Given the description of an element on the screen output the (x, y) to click on. 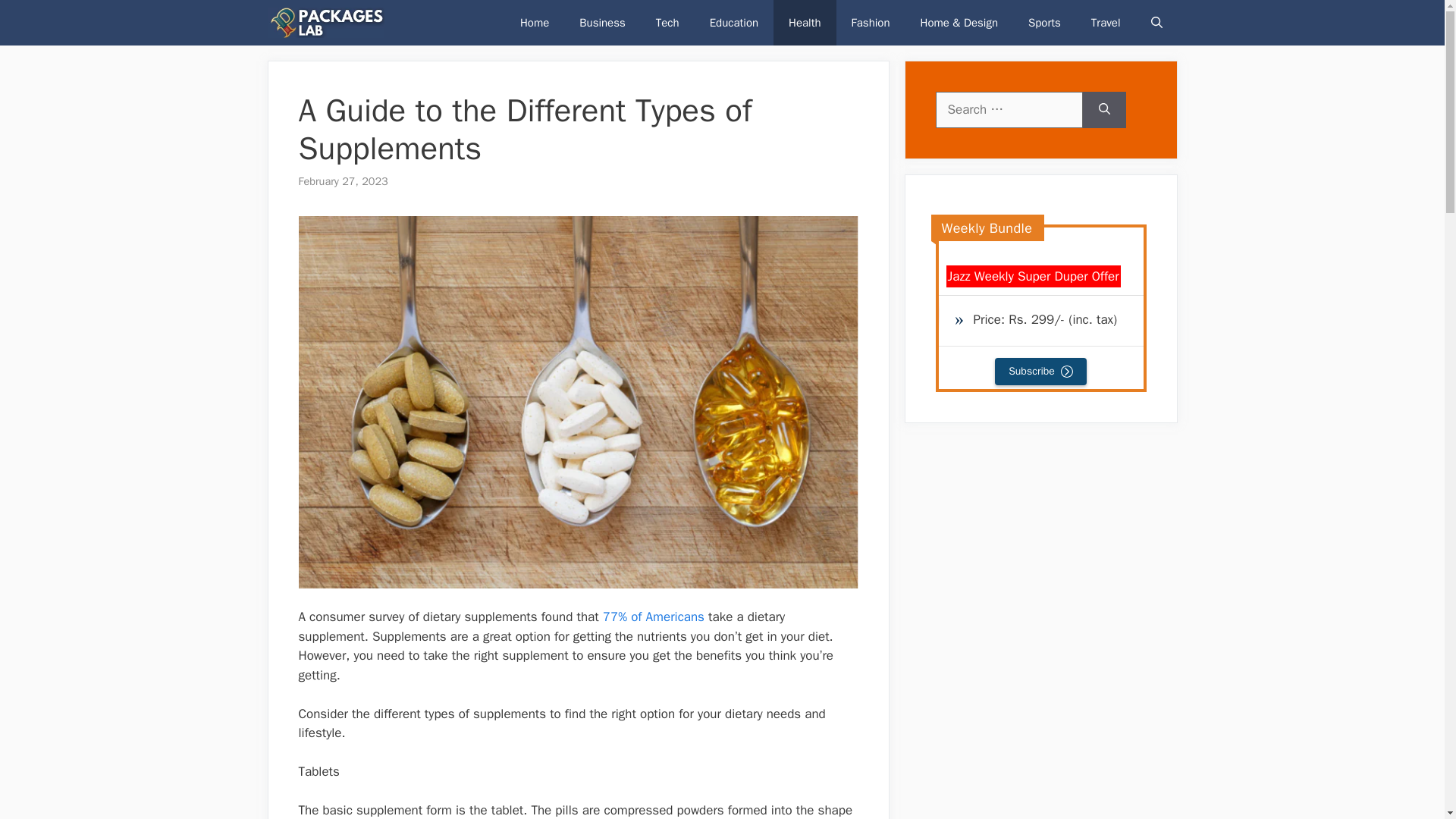
Fashion (870, 22)
Sports (1044, 22)
Home (534, 22)
Travel (1105, 22)
Business (602, 22)
Tech (667, 22)
Search for: (1009, 109)
Subscribe (1040, 370)
Health (804, 22)
Packages Lab (325, 22)
Education (733, 22)
